Given the description of an element on the screen output the (x, y) to click on. 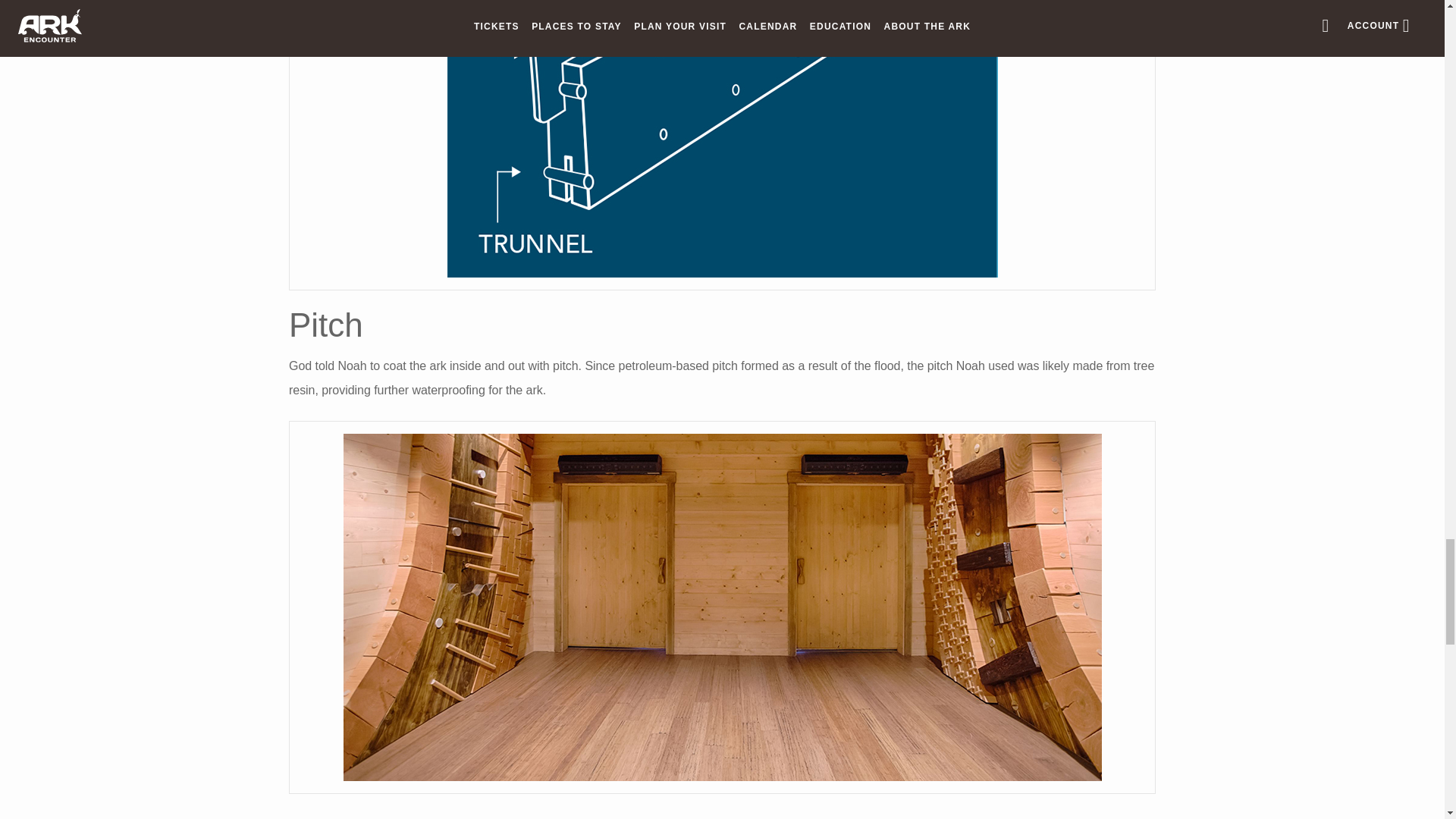
planning your trip (368, 818)
